Given the description of an element on the screen output the (x, y) to click on. 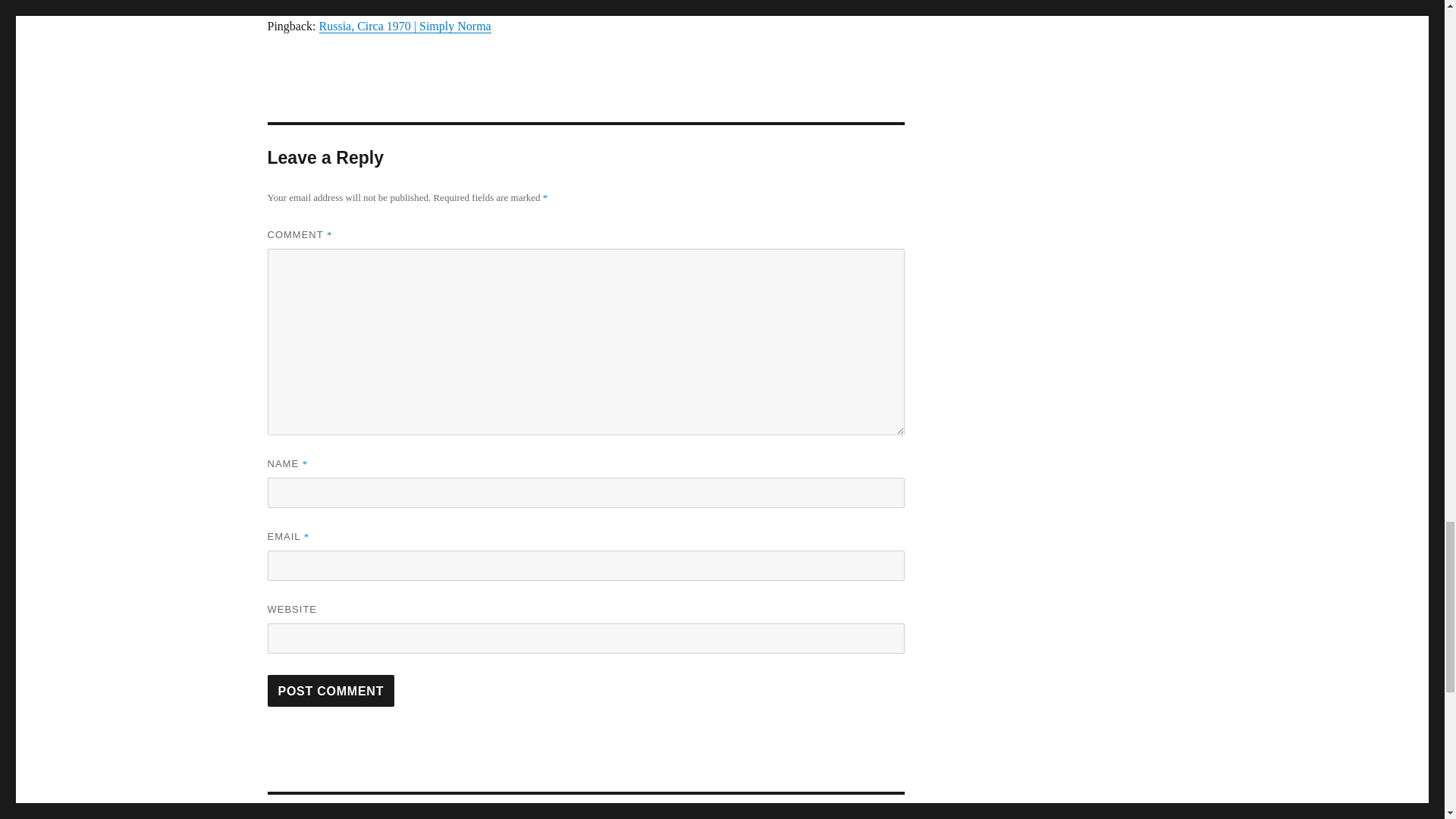
Post Comment (585, 806)
Post Comment (330, 690)
